Given the description of an element on the screen output the (x, y) to click on. 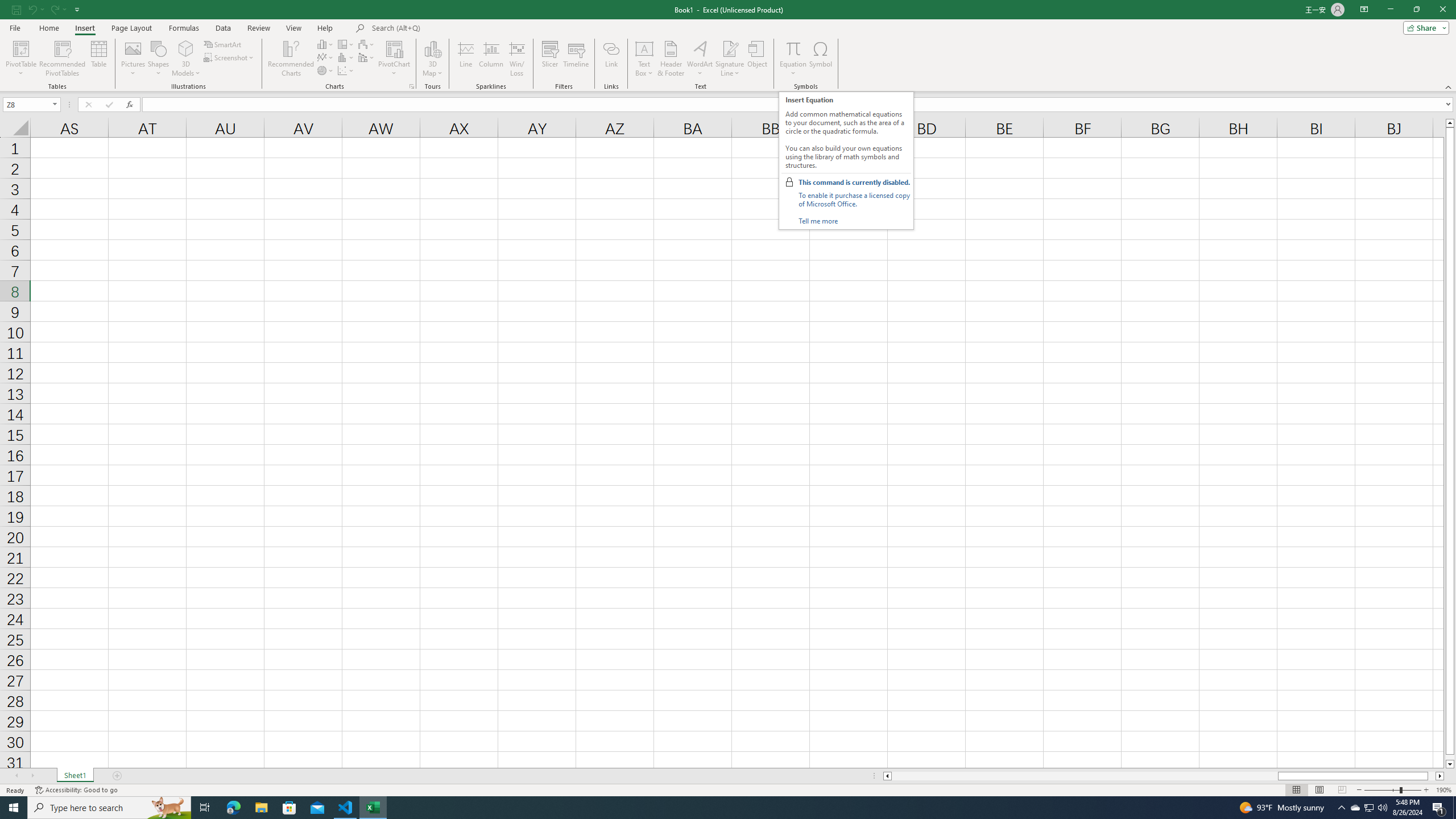
Pictures (133, 58)
Insert Column or Bar Chart (325, 44)
Screenshot (229, 56)
Symbol... (821, 58)
Insert Combo Chart (366, 56)
Column (491, 58)
Insert Line or Area Chart (325, 56)
Insert Statistic Chart (346, 56)
